Given the description of an element on the screen output the (x, y) to click on. 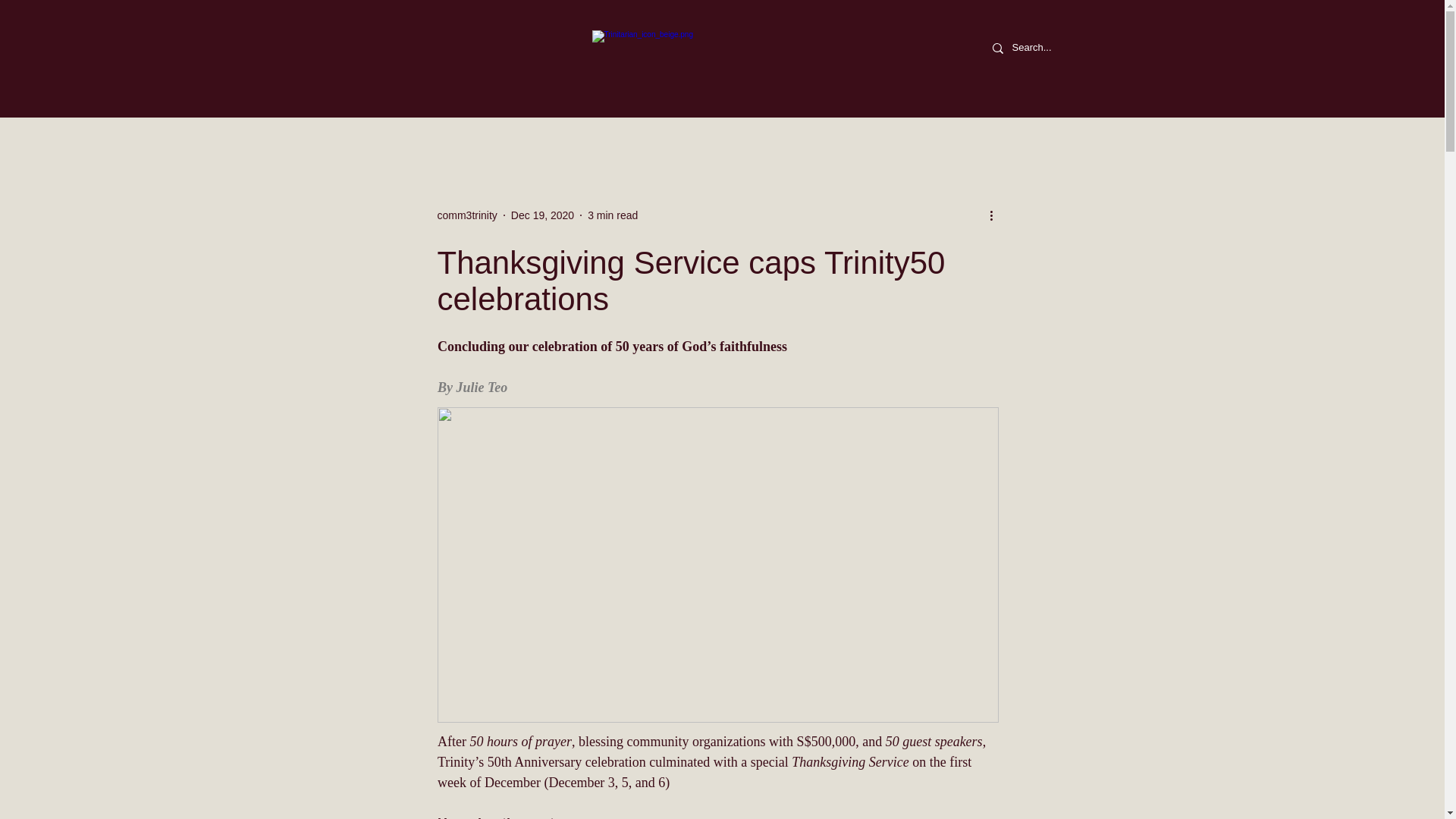
comm3trinity (466, 215)
50 hours of prayer (520, 741)
Dec 19, 2020 (542, 215)
3 min read (612, 215)
50 guest speakers (933, 741)
